Given the description of an element on the screen output the (x, y) to click on. 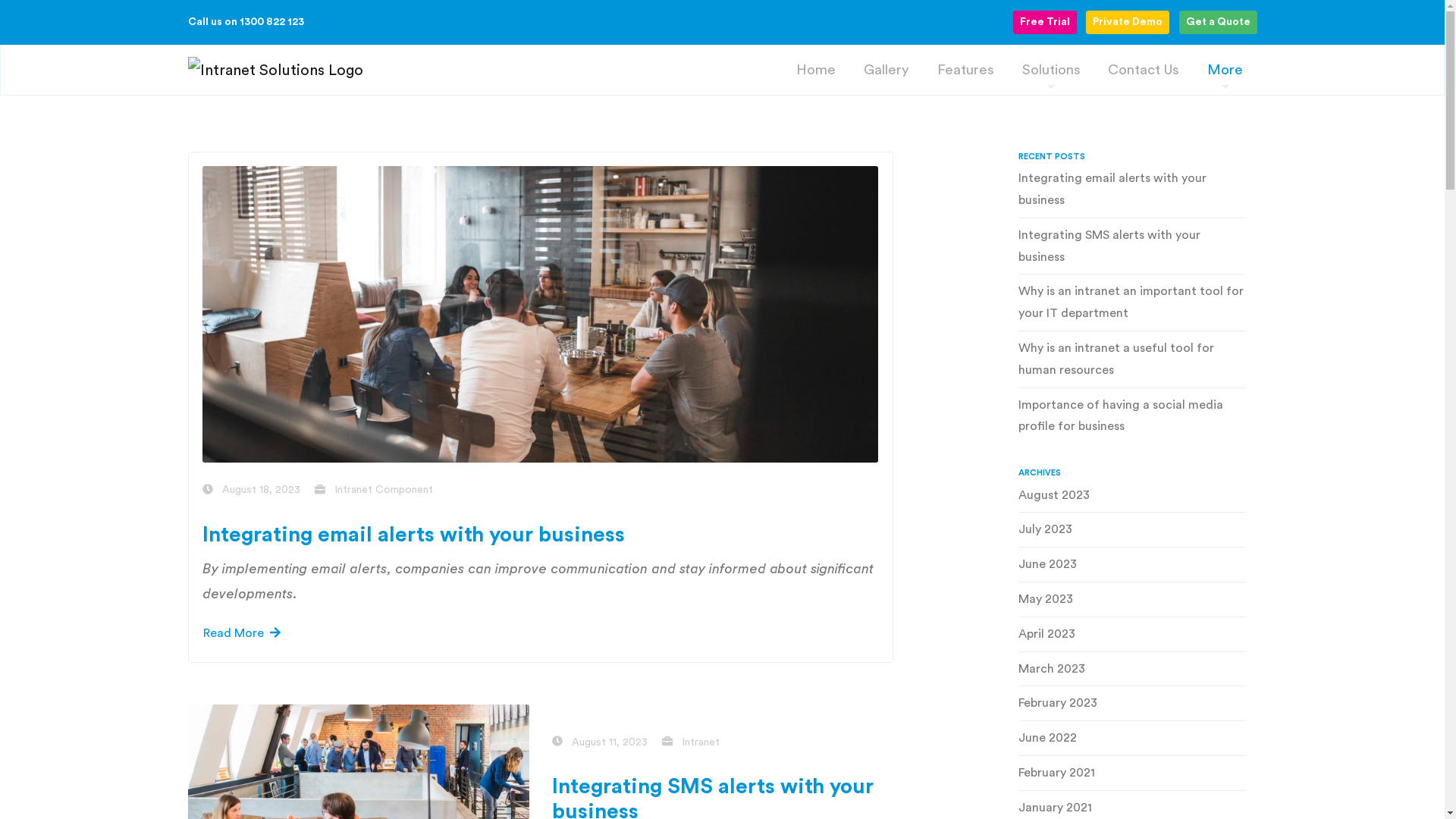
Home Element type: text (816, 69)
Solutions Element type: text (1050, 69)
April 2023 Element type: text (1131, 637)
February 2021 Element type: text (1131, 776)
Get a Quote Element type: text (1217, 22)
More Element type: text (1225, 69)
Why is an intranet a useful tool for human resources Element type: text (1131, 362)
July 2023 Element type: text (1131, 532)
May 2023 Element type: text (1131, 602)
Free Trial Element type: text (1044, 22)
Integrating SMS alerts with your business Element type: text (1131, 249)
Why is an intranet an important tool for your IT department Element type: text (1131, 305)
Private Demo Element type: text (1127, 22)
Contact Us Element type: text (1143, 69)
Integrating email alerts with your business Element type: text (413, 534)
Gallery Element type: text (886, 69)
June 2022 Element type: text (1131, 741)
Importance of having a social media profile for business Element type: text (1131, 419)
Integrating email alerts with your business Element type: text (1131, 192)
March 2023 Element type: text (1131, 672)
1300 822 123 Element type: text (271, 21)
June 2023 Element type: text (1131, 567)
Read More Element type: text (241, 632)
August 2023 Element type: text (1131, 498)
February 2023 Element type: text (1131, 706)
Features Element type: text (964, 69)
